Given the description of an element on the screen output the (x, y) to click on. 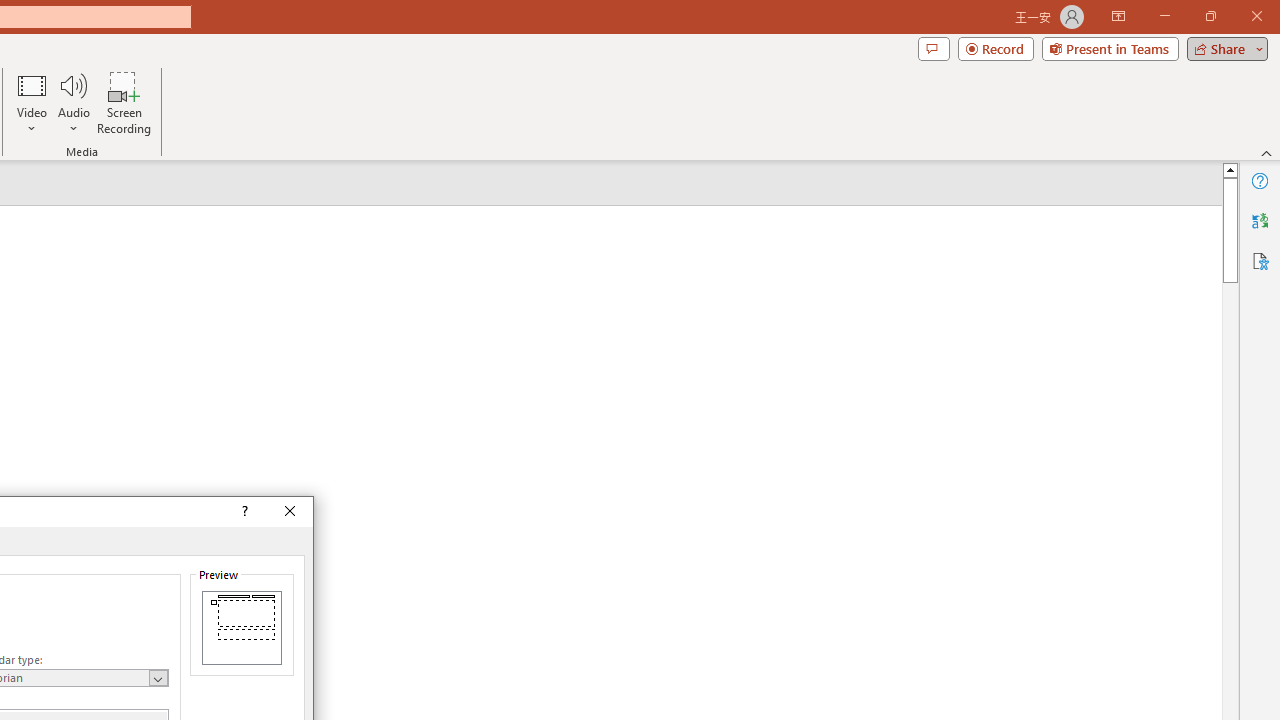
Video (31, 102)
Context help (243, 511)
Screen Recording... (123, 102)
